Given the description of an element on the screen output the (x, y) to click on. 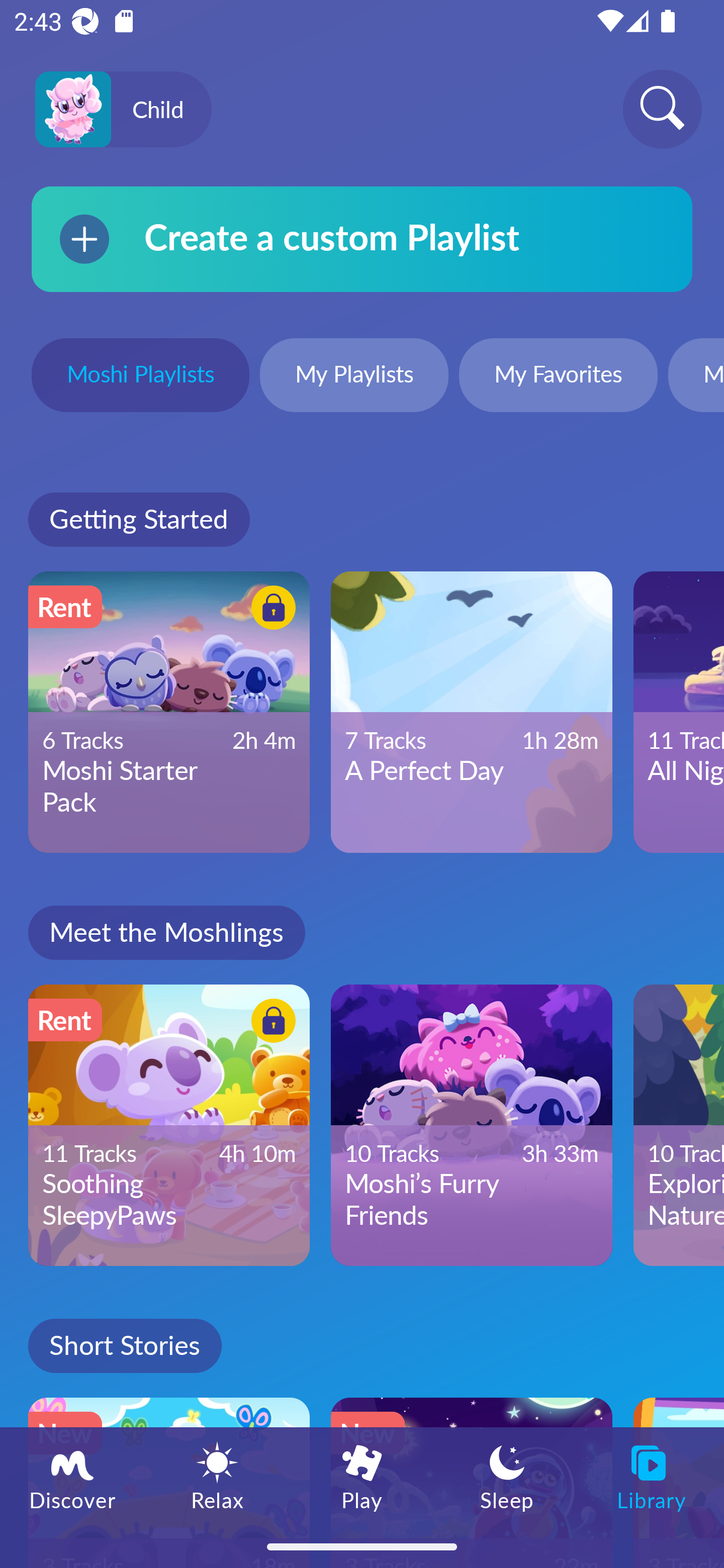
Profile icon Child (123, 109)
Create a custom Playlist (361, 238)
Moshi Playlists (140, 377)
My Playlists (353, 377)
My Favorites (558, 377)
Button (269, 609)
Featured Content 7 Tracks A Perfect Day 1h 28m (471, 711)
Button (269, 1023)
Discover (72, 1475)
Relax (216, 1475)
Play (361, 1475)
Sleep (506, 1475)
